Given the description of an element on the screen output the (x, y) to click on. 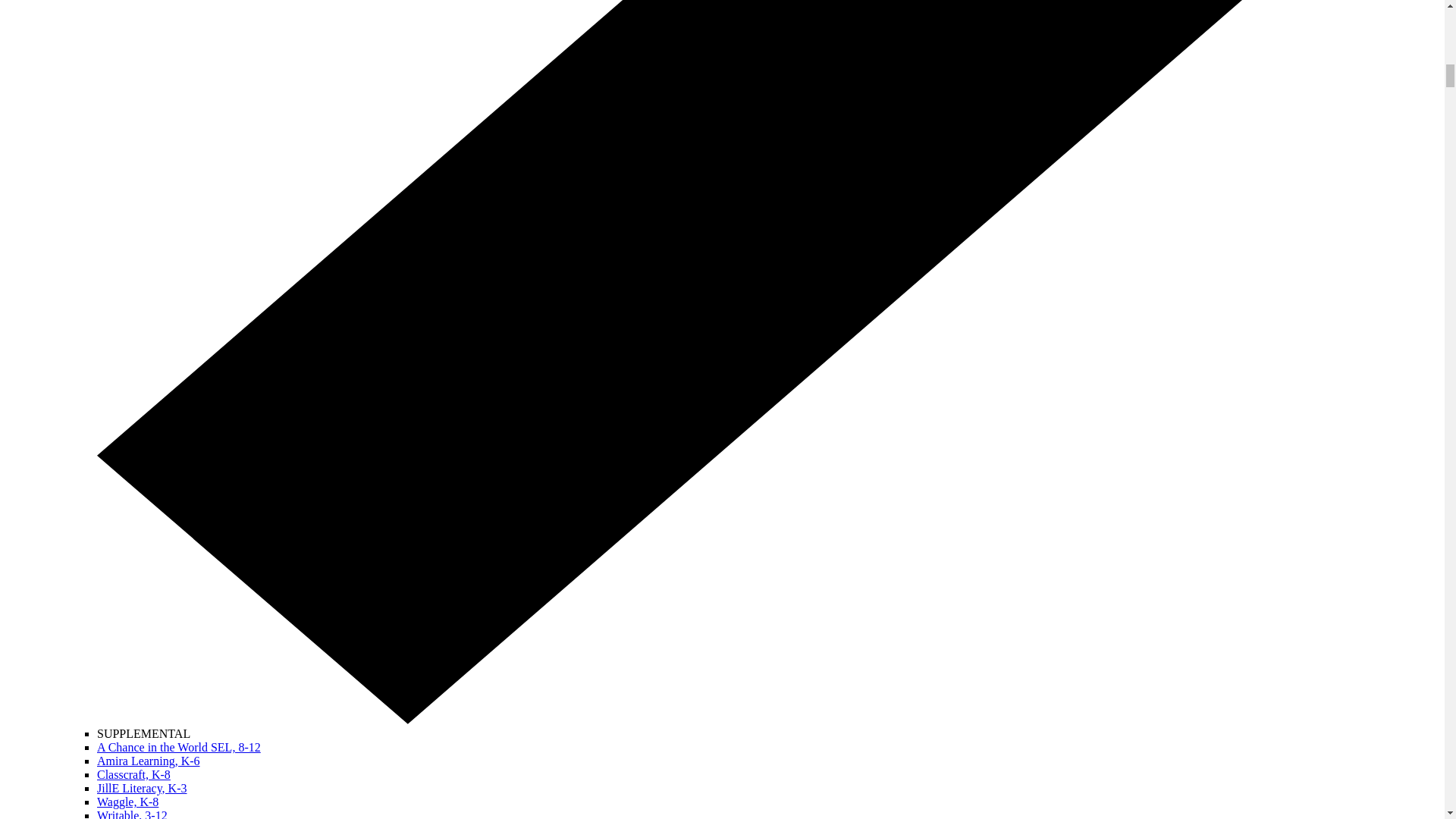
A Chance in the World SEL, 8-12 (178, 747)
Writable, 3-12 (132, 814)
JillE Literacy, K-3 (141, 788)
Classcraft, K-8 (133, 774)
Writable, 3-12 (132, 814)
Amira Learning, K-6 (148, 760)
Amira Learning, K-6 (148, 760)
Waggle, K-8 (127, 801)
A Chance in the World SEL, 8-12 (178, 747)
JillE Literacy, K-3 (141, 788)
Classcraft, K-8 (133, 774)
Waggle, K-8 (127, 801)
